Given the description of an element on the screen output the (x, y) to click on. 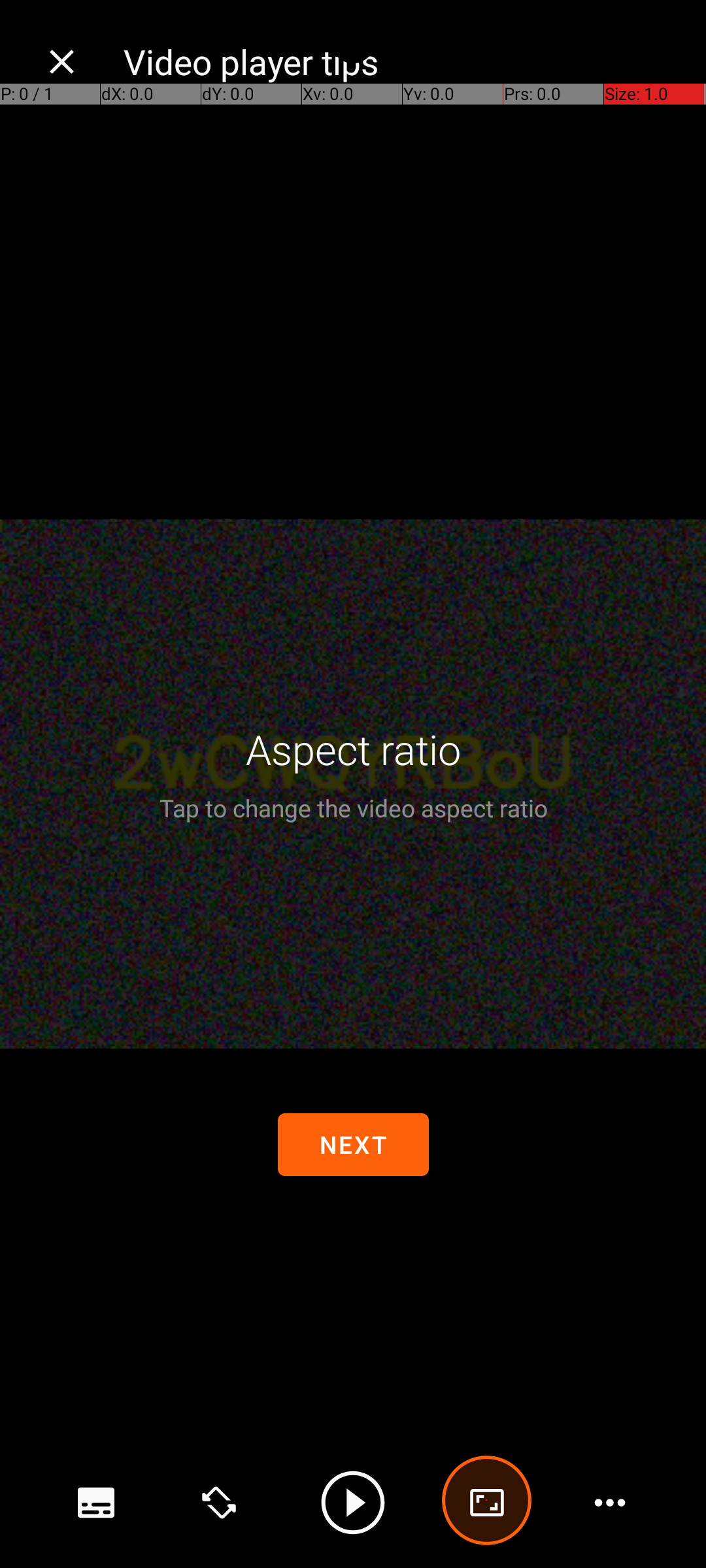
Video player. Tap to show controls. Tap the back button to hide them Element type: android.widget.FrameLayout (353, 784)
Video player tips Element type: android.widget.TextView (400, 61)
Aspect ratio Element type: android.widget.TextView (352, 748)
Tap to change the video aspect ratio Element type: android.widget.TextView (352, 807)
advanced options Element type: android.widget.ImageView (486, 1502)
